Given the description of an element on the screen output the (x, y) to click on. 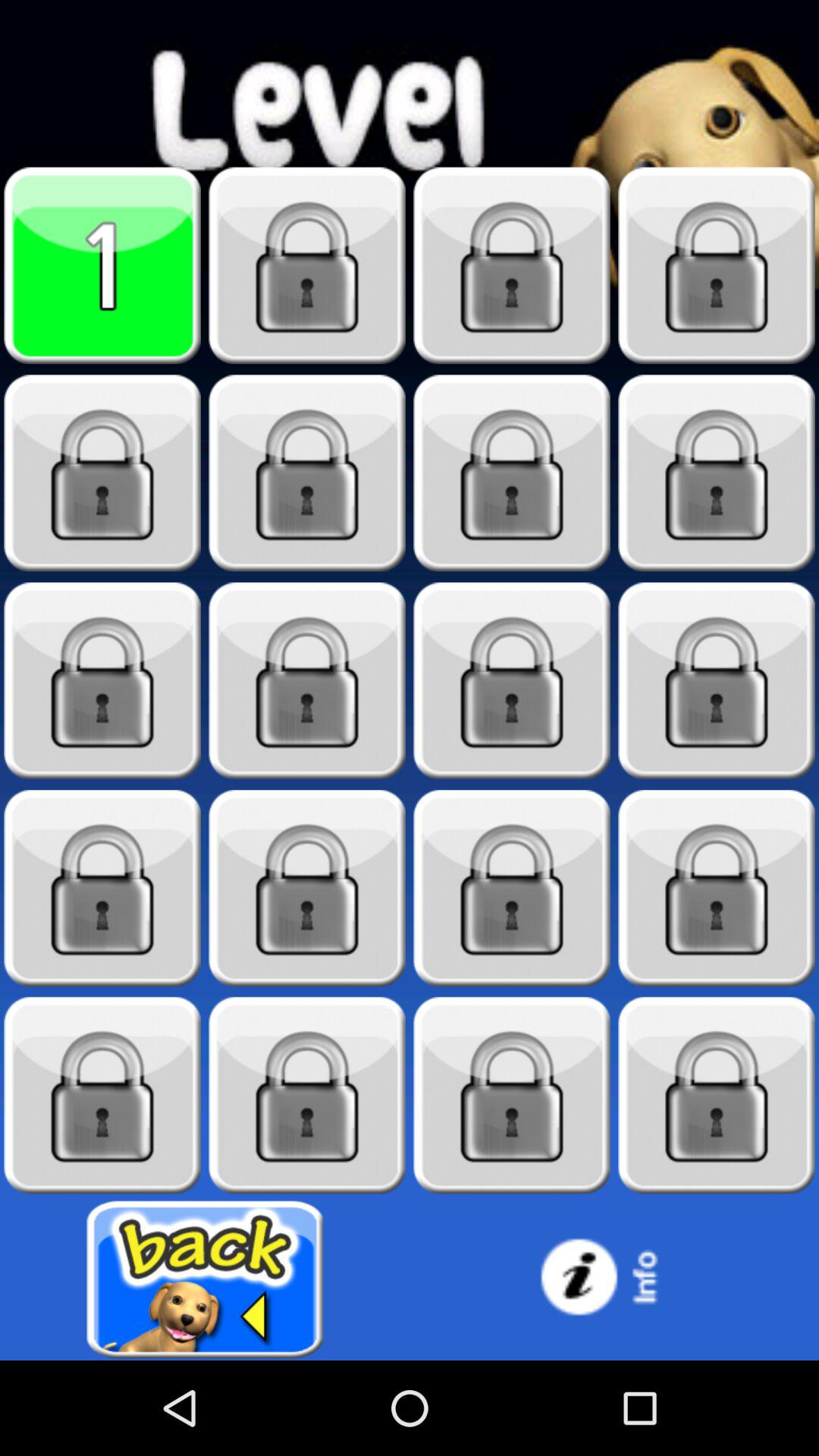
game information (614, 1279)
